Given the description of an element on the screen output the (x, y) to click on. 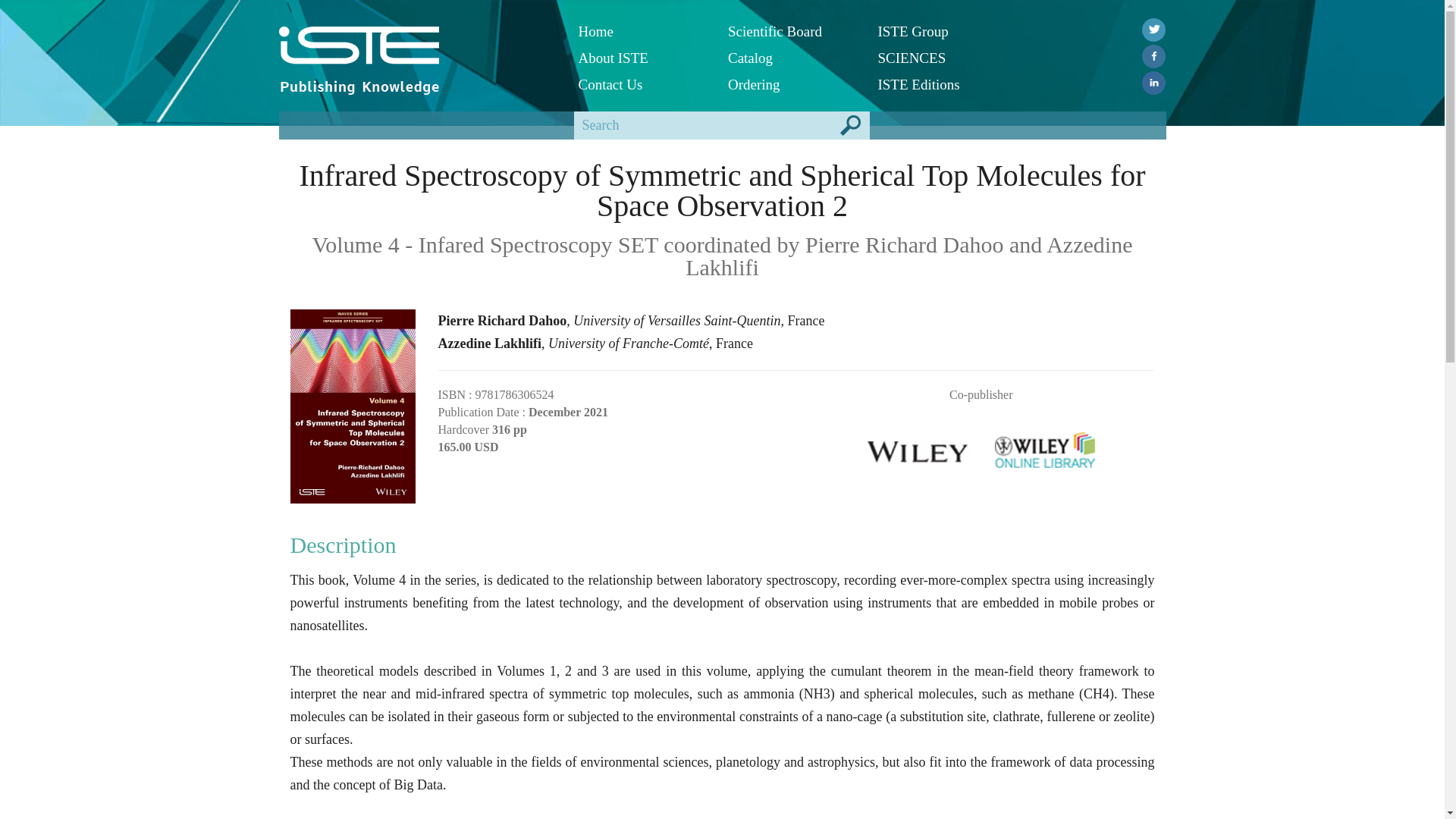
ISTE Editions (940, 84)
ISTE (417, 46)
Wiley (917, 445)
Wiley Online Library (1044, 445)
SCIENCES (940, 58)
Publishing Knowledge (359, 86)
Ordering (791, 84)
Scientific Board (791, 31)
ISTE Group (940, 31)
ISTE (359, 49)
ISTE Group (940, 31)
SCIENCES (940, 58)
About ISTE (641, 58)
